Given the description of an element on the screen output the (x, y) to click on. 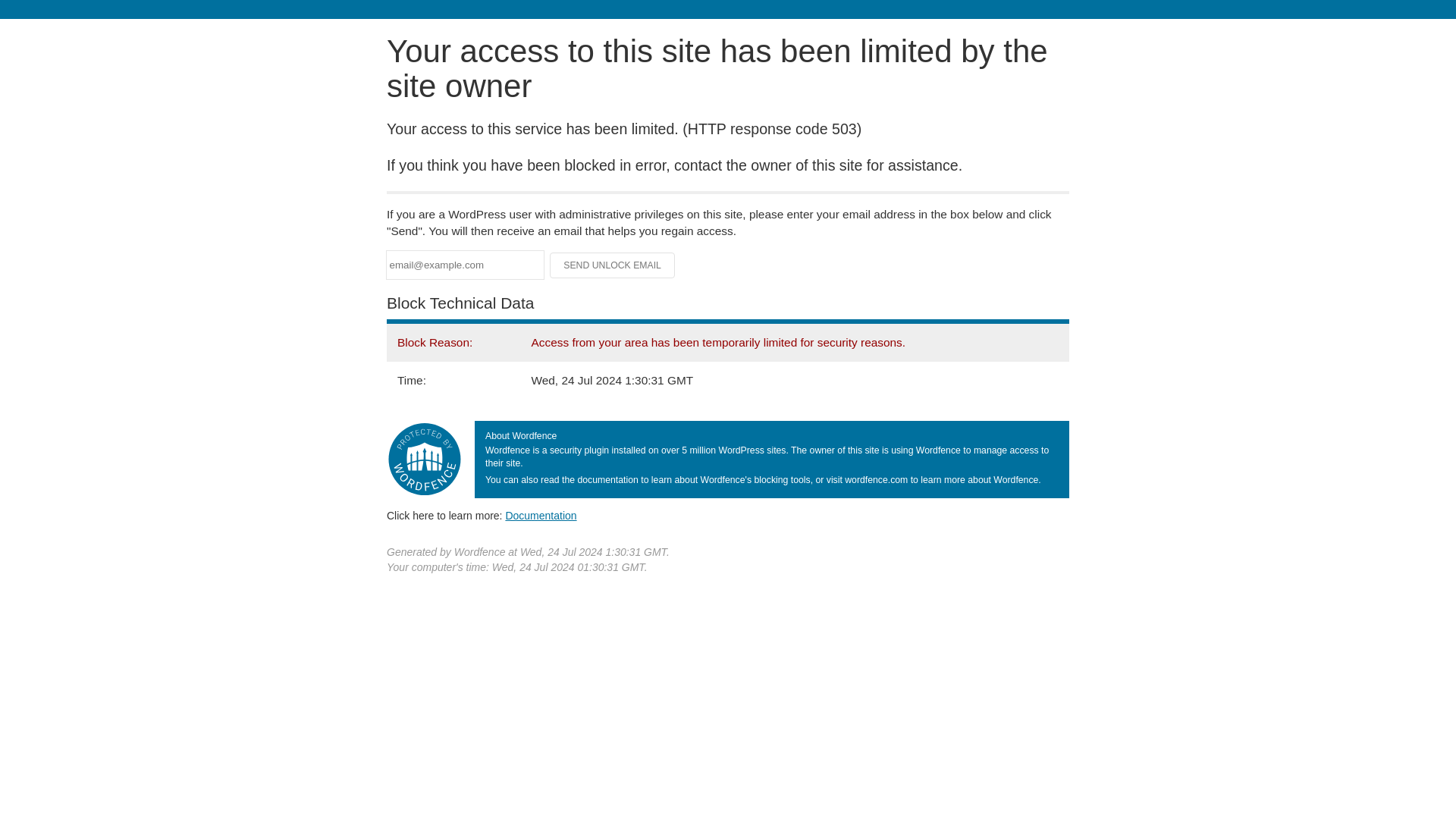
Documentation (540, 515)
Send Unlock Email (612, 265)
Send Unlock Email (612, 265)
